Given the description of an element on the screen output the (x, y) to click on. 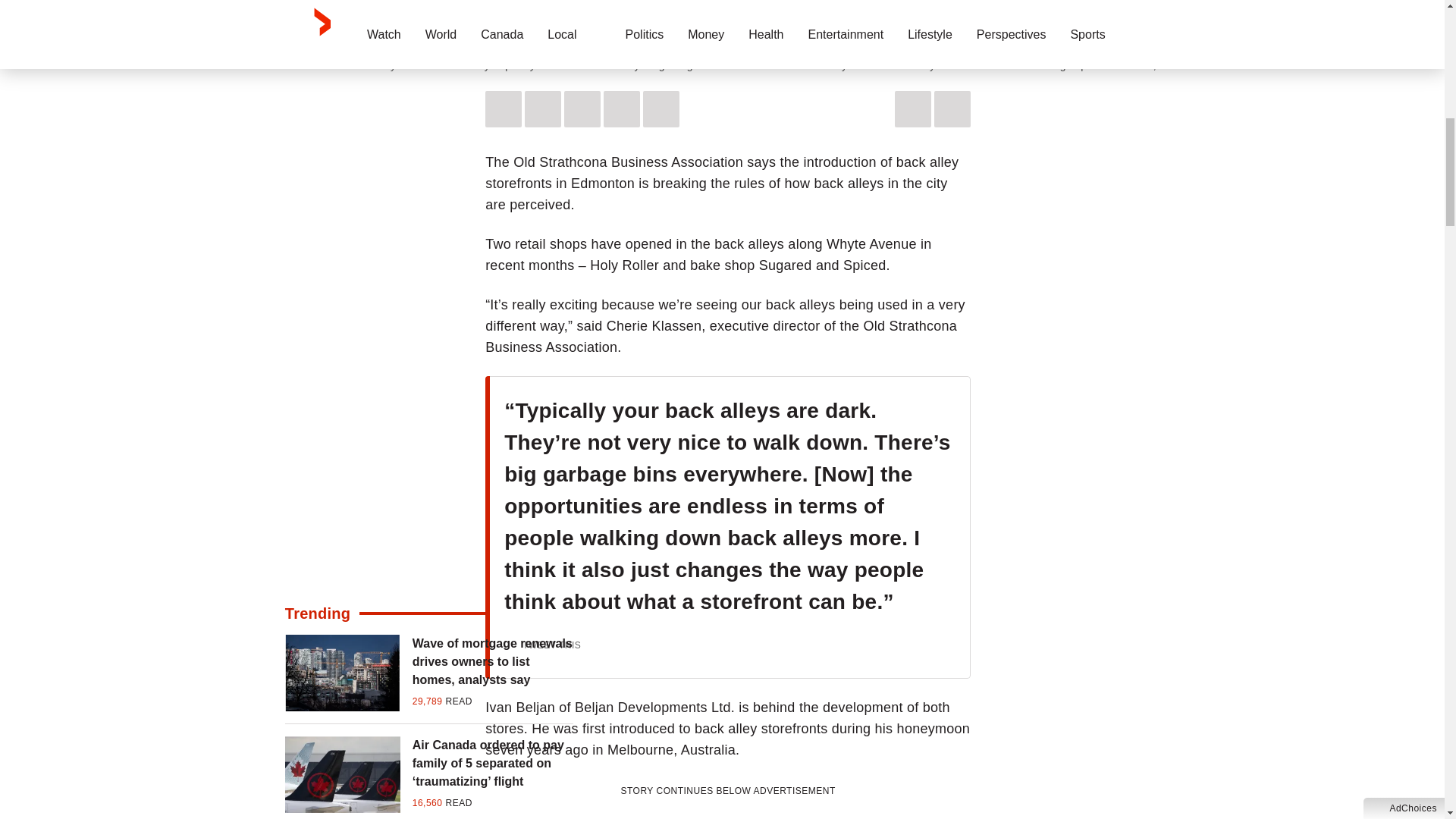
3rd party ad content (727, 809)
Sticky Video (727, 22)
